Given the description of an element on the screen output the (x, y) to click on. 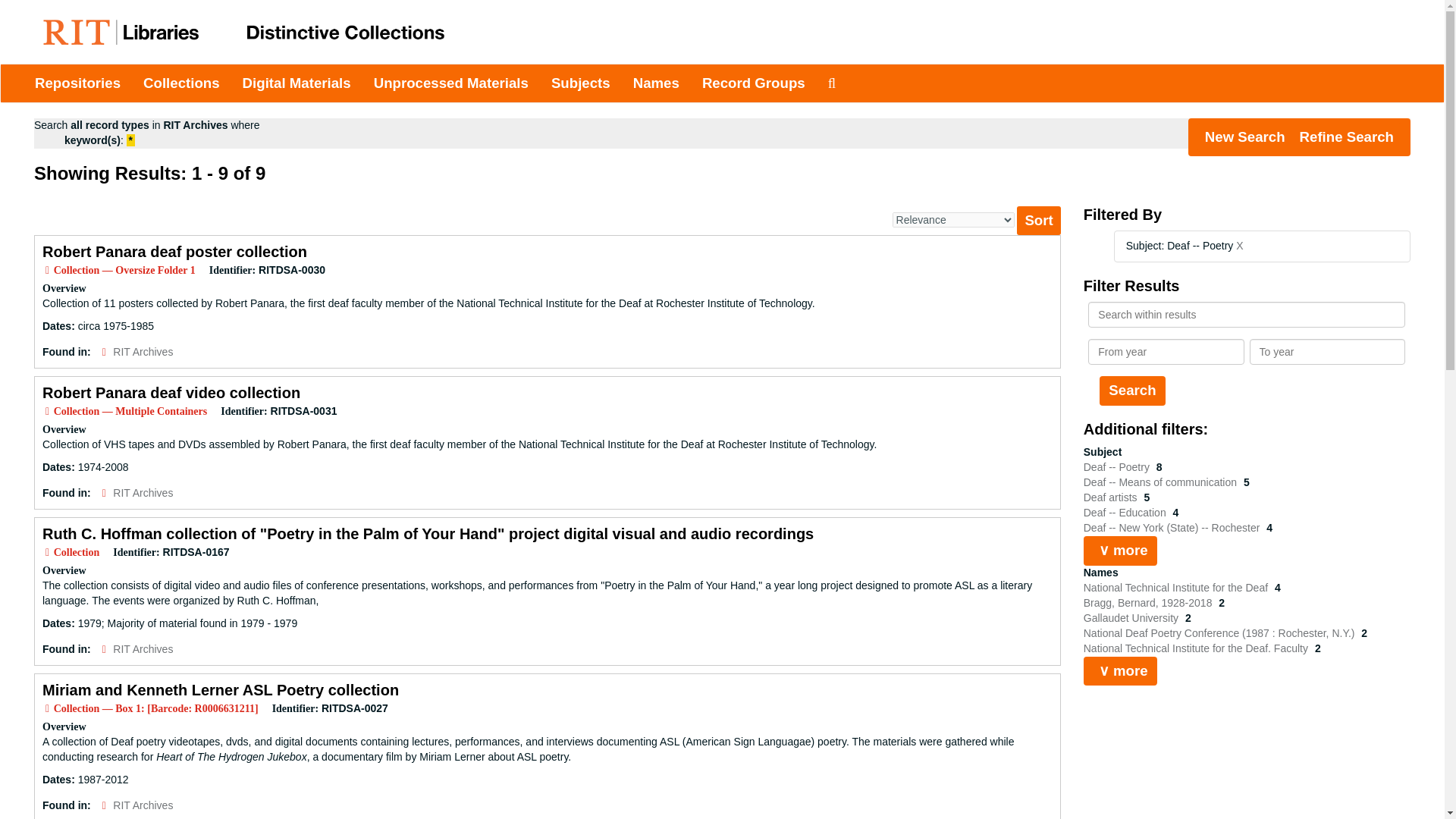
Sort (1037, 220)
Sort (1037, 220)
Search (1131, 390)
Names (655, 83)
Repositories (77, 83)
Filter By 'Deaf artists' (1111, 497)
RIT Archives (143, 648)
Record Groups (753, 83)
Filter By 'Deaf -- Poetry' (1118, 467)
Refine Search (1346, 136)
Miriam and Kenneth Lerner ASL Poetry collection (220, 689)
RIT Archives (143, 351)
RIT Archives (143, 492)
Robert Panara deaf poster collection (174, 251)
